Given the description of an element on the screen output the (x, y) to click on. 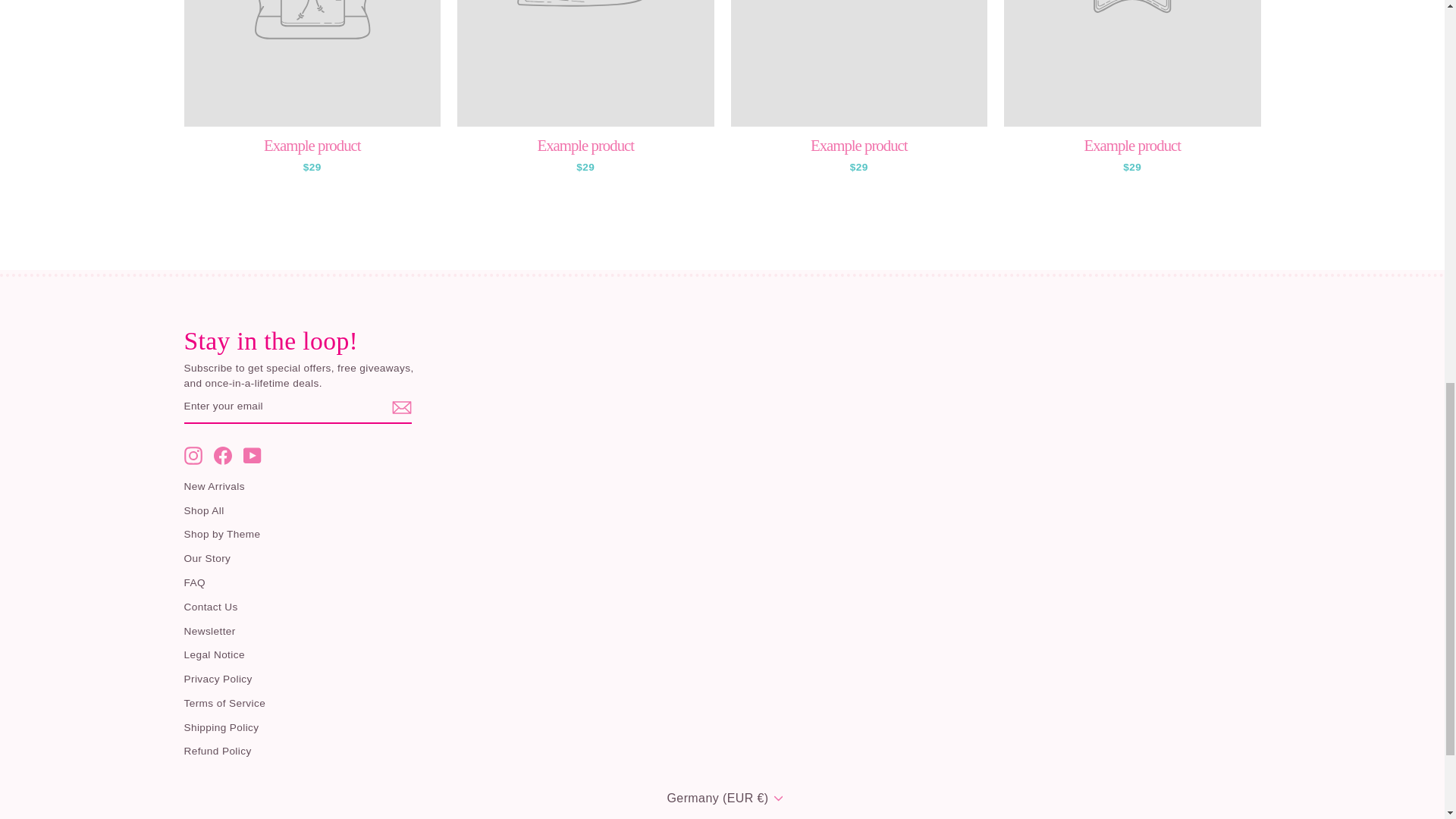
Our Generation Europe on Facebook (222, 455)
Our Generation Europe on Instagram (192, 455)
Our Generation Europe on YouTube (251, 455)
